Given the description of an element on the screen output the (x, y) to click on. 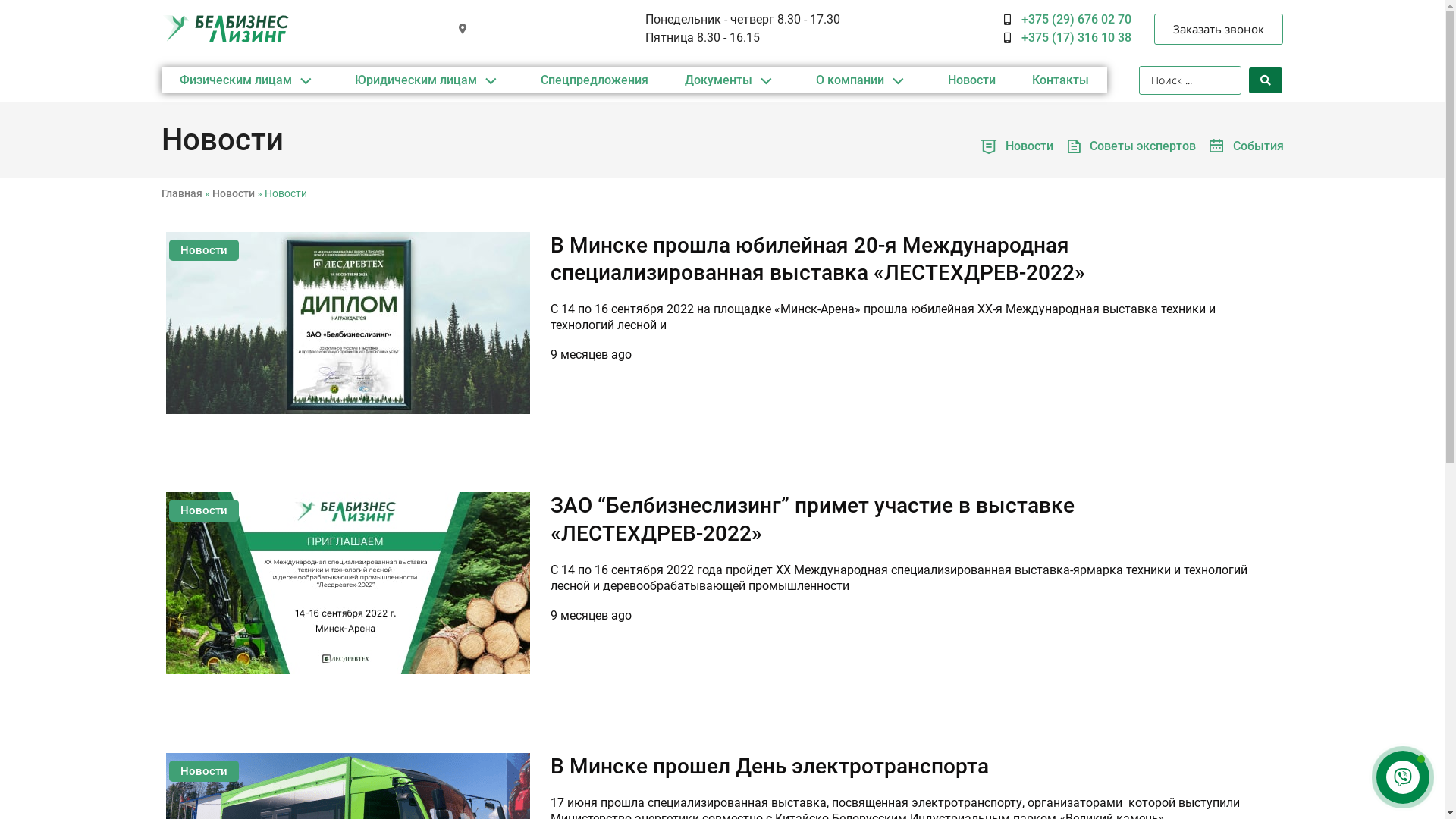
+375 (29) 676 02 70 Element type: text (1067, 19)
+375 (17) 316 10 38 Element type: text (1067, 37)
